Given the description of an element on the screen output the (x, y) to click on. 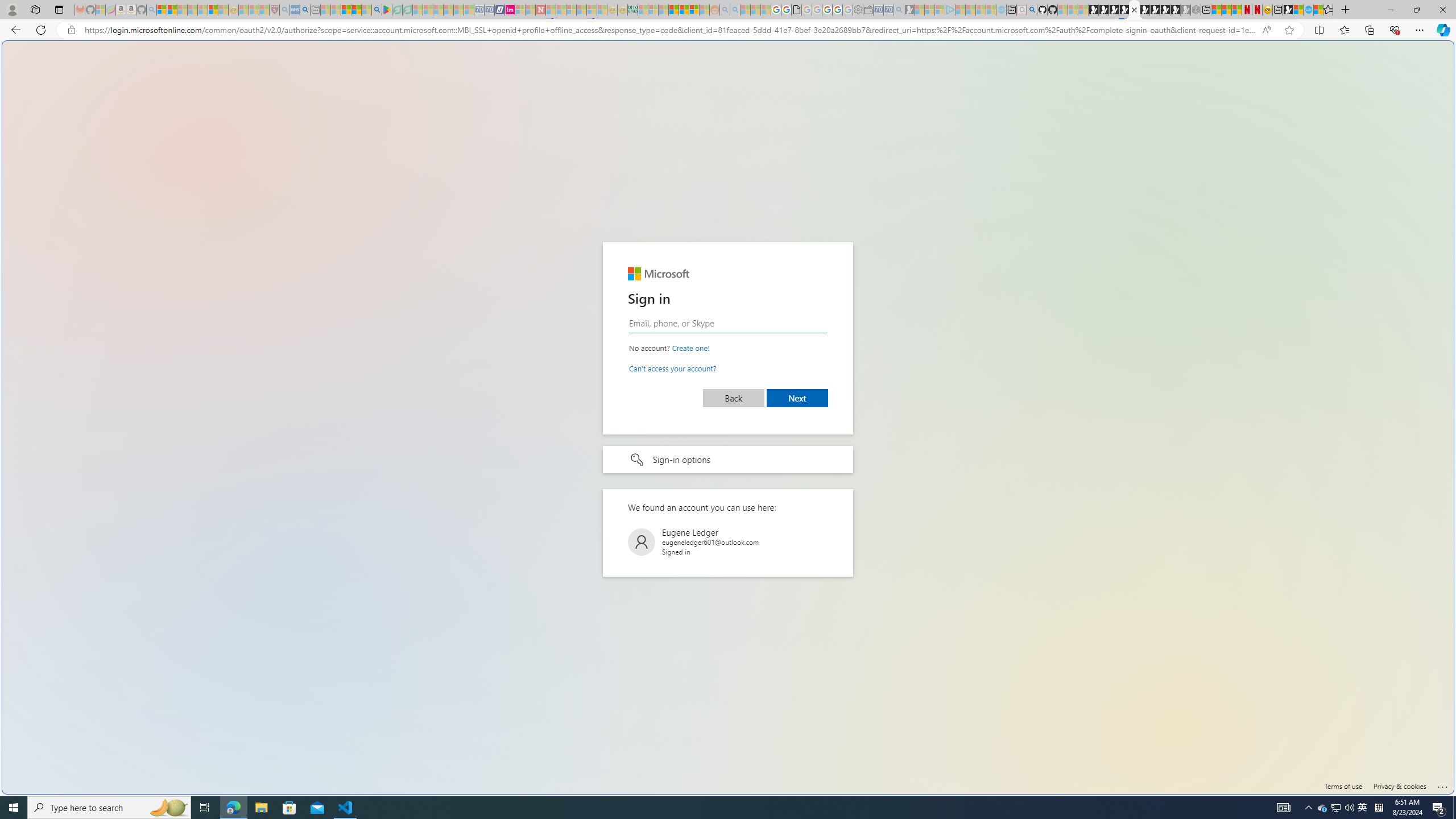
Pets - MSN (356, 9)
